Given the description of an element on the screen output the (x, y) to click on. 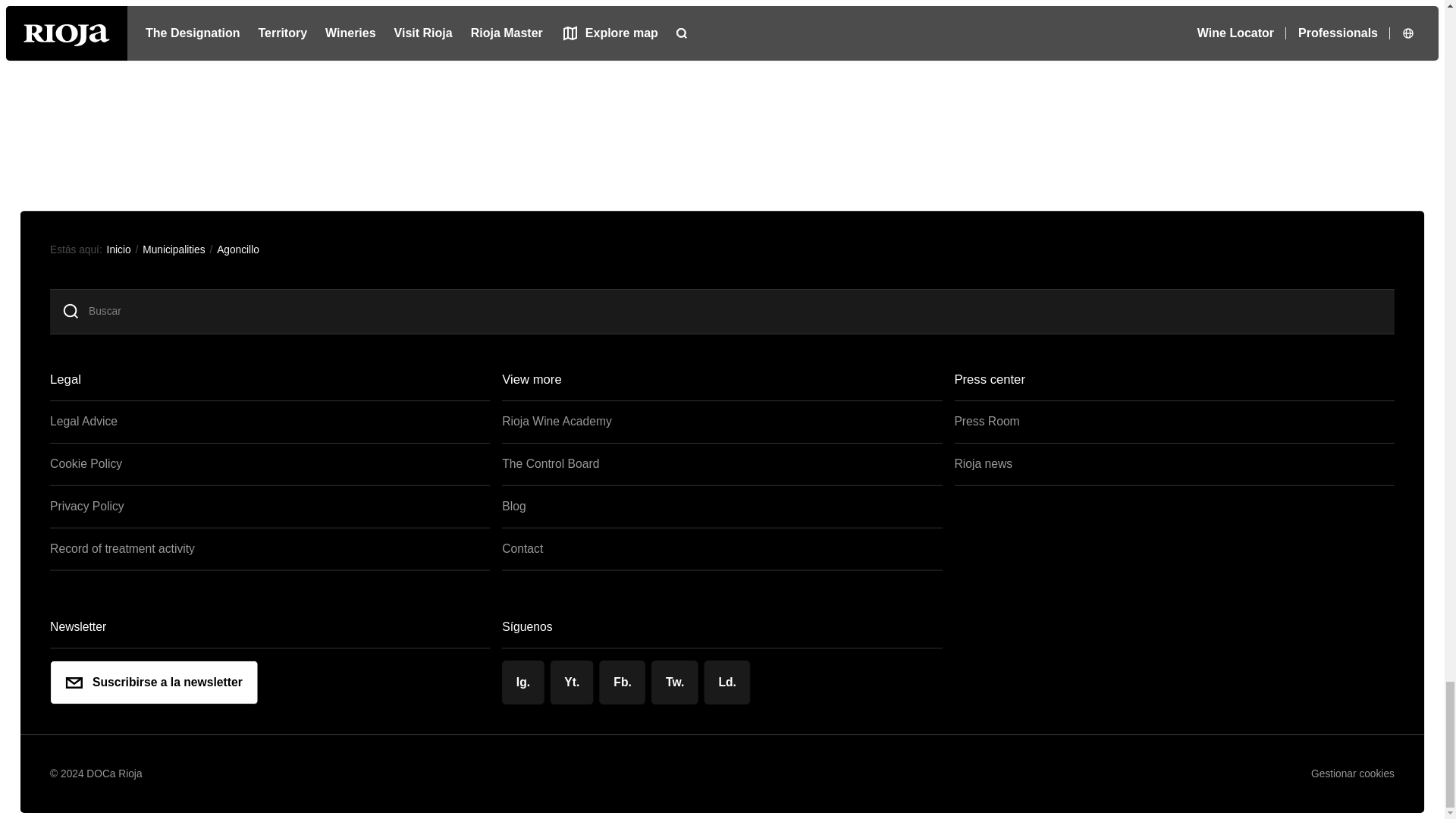
Buscar (739, 311)
